Given the description of an element on the screen output the (x, y) to click on. 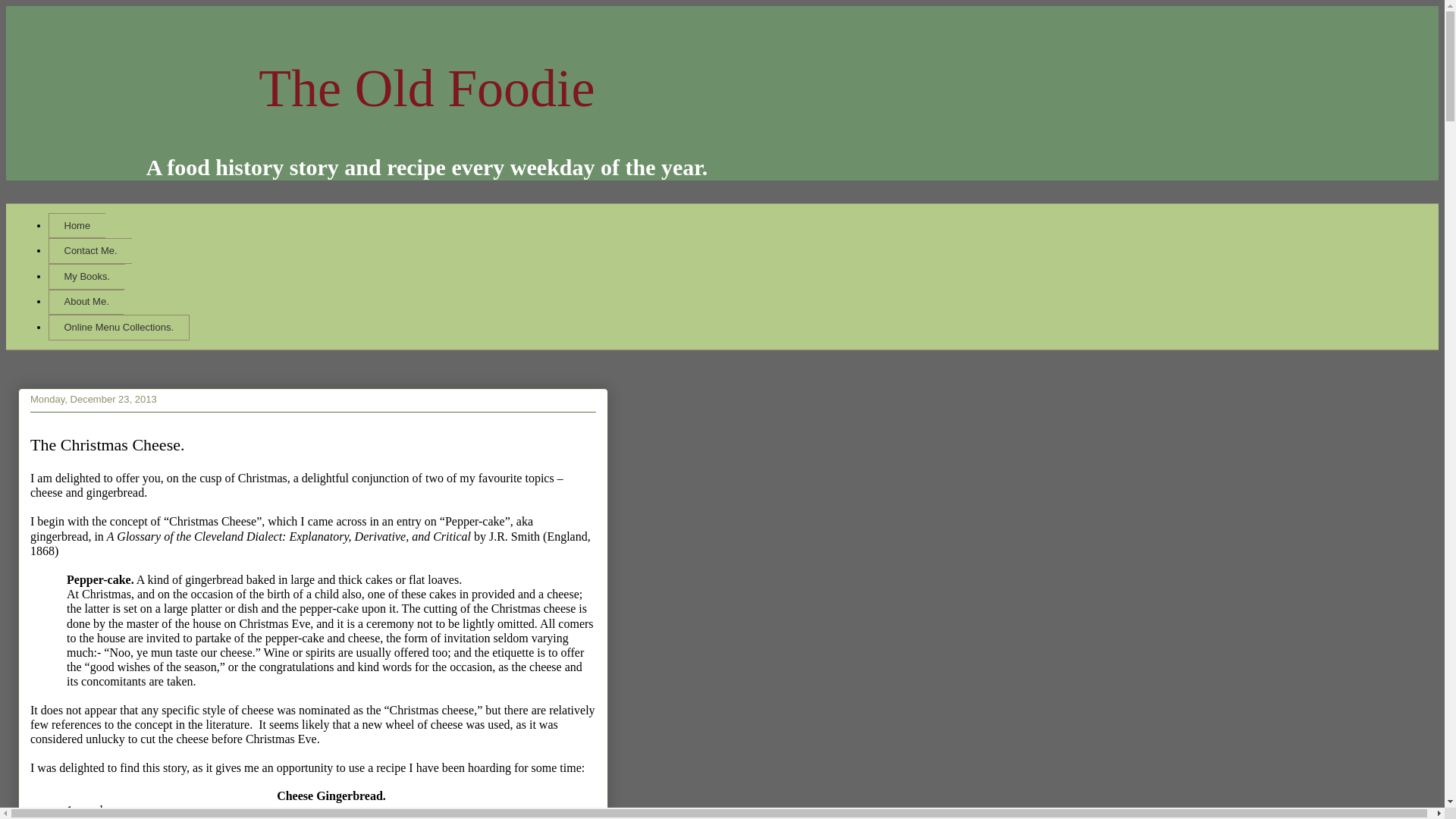
Contact Me. (90, 250)
My Books. (86, 276)
About Me. (85, 302)
Online Menu Collections. (118, 327)
Home (76, 225)
The Old Foodie (426, 87)
